Given the description of an element on the screen output the (x, y) to click on. 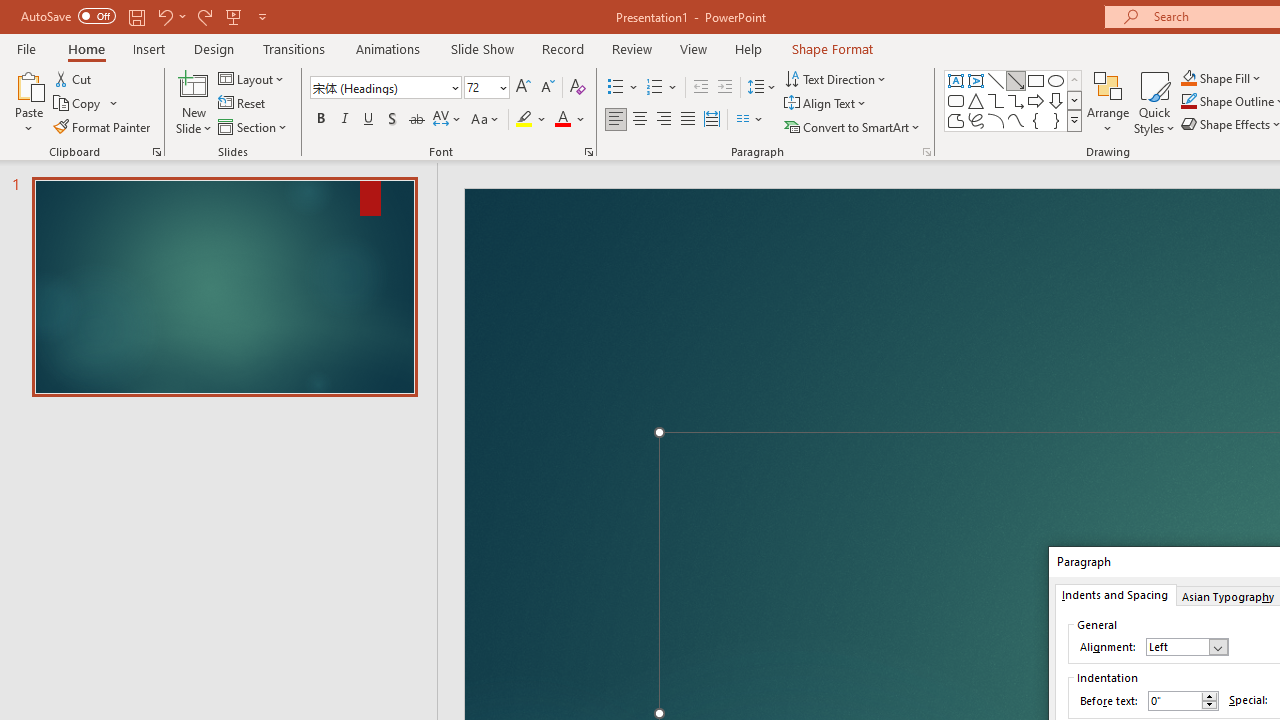
Isosceles Triangle (975, 100)
Center (639, 119)
Vertical Text Box (975, 80)
